Given the description of an element on the screen output the (x, y) to click on. 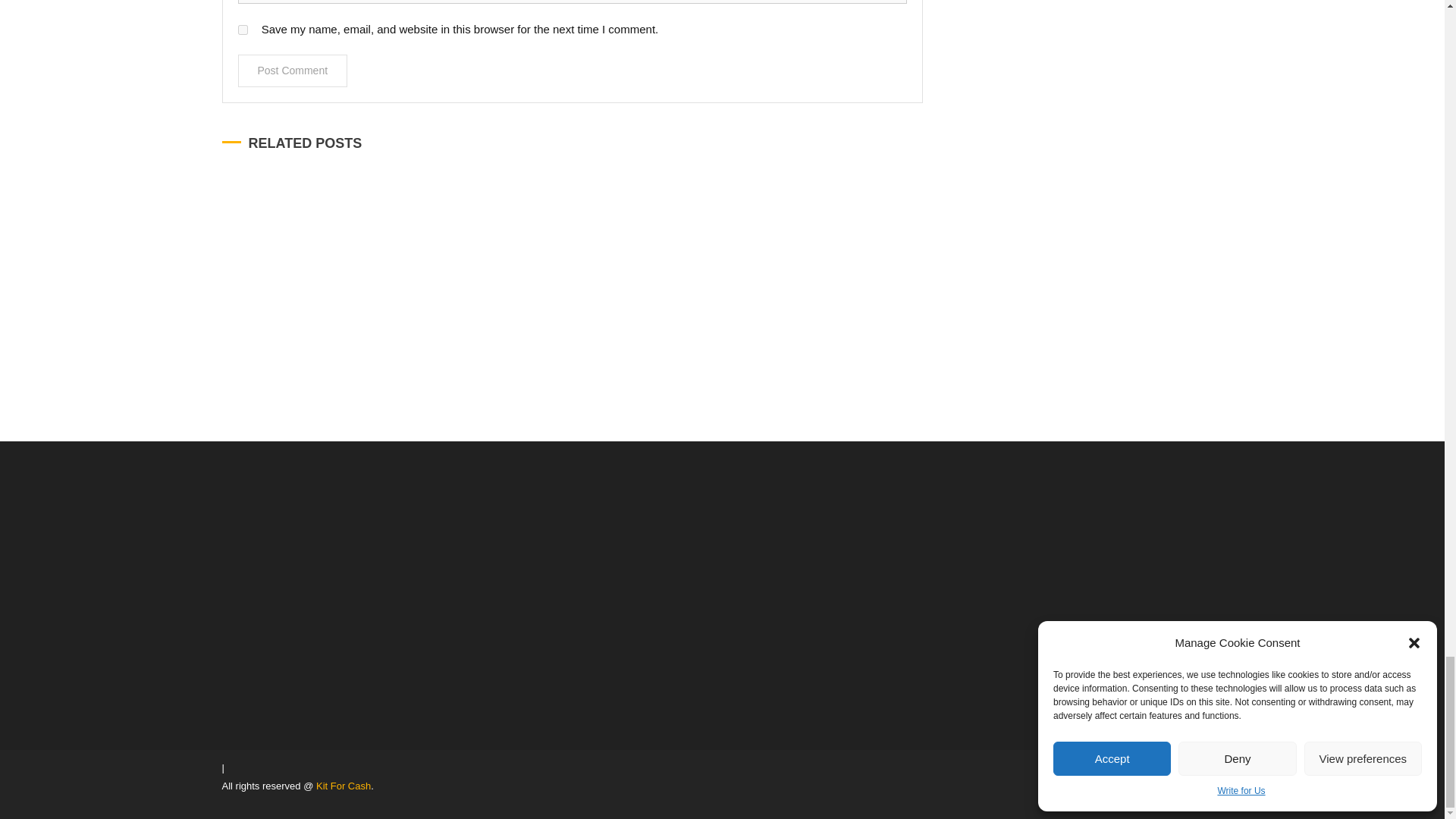
Post Comment (292, 70)
yes (242, 30)
